Given the description of an element on the screen output the (x, y) to click on. 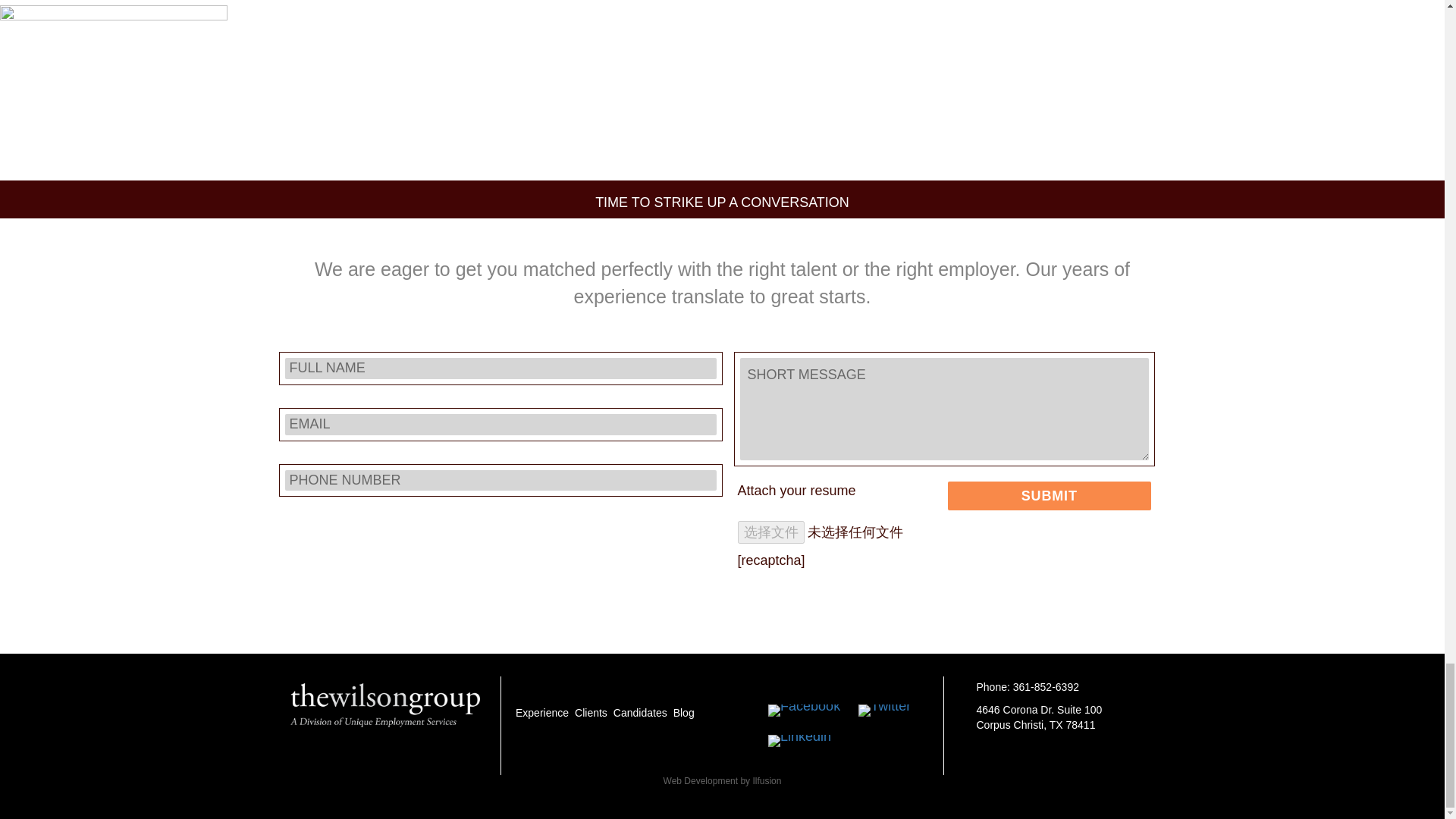
Twitter (885, 710)
Submit (1049, 495)
Linkedin (799, 740)
The Wilson Group (384, 704)
Facebook (804, 710)
